Given the description of an element on the screen output the (x, y) to click on. 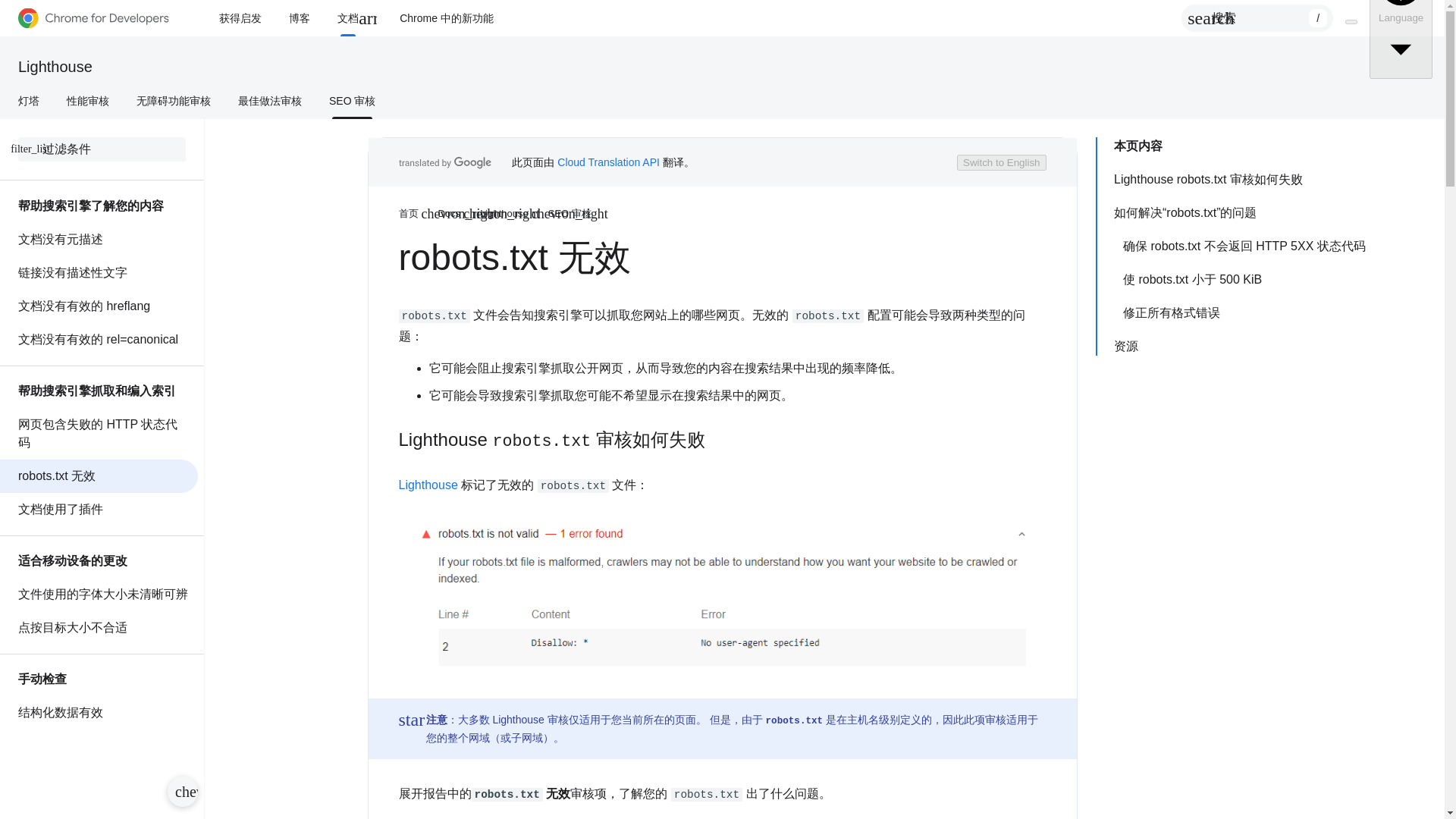
Lighthouse (55, 66)
